Given the description of an element on the screen output the (x, y) to click on. 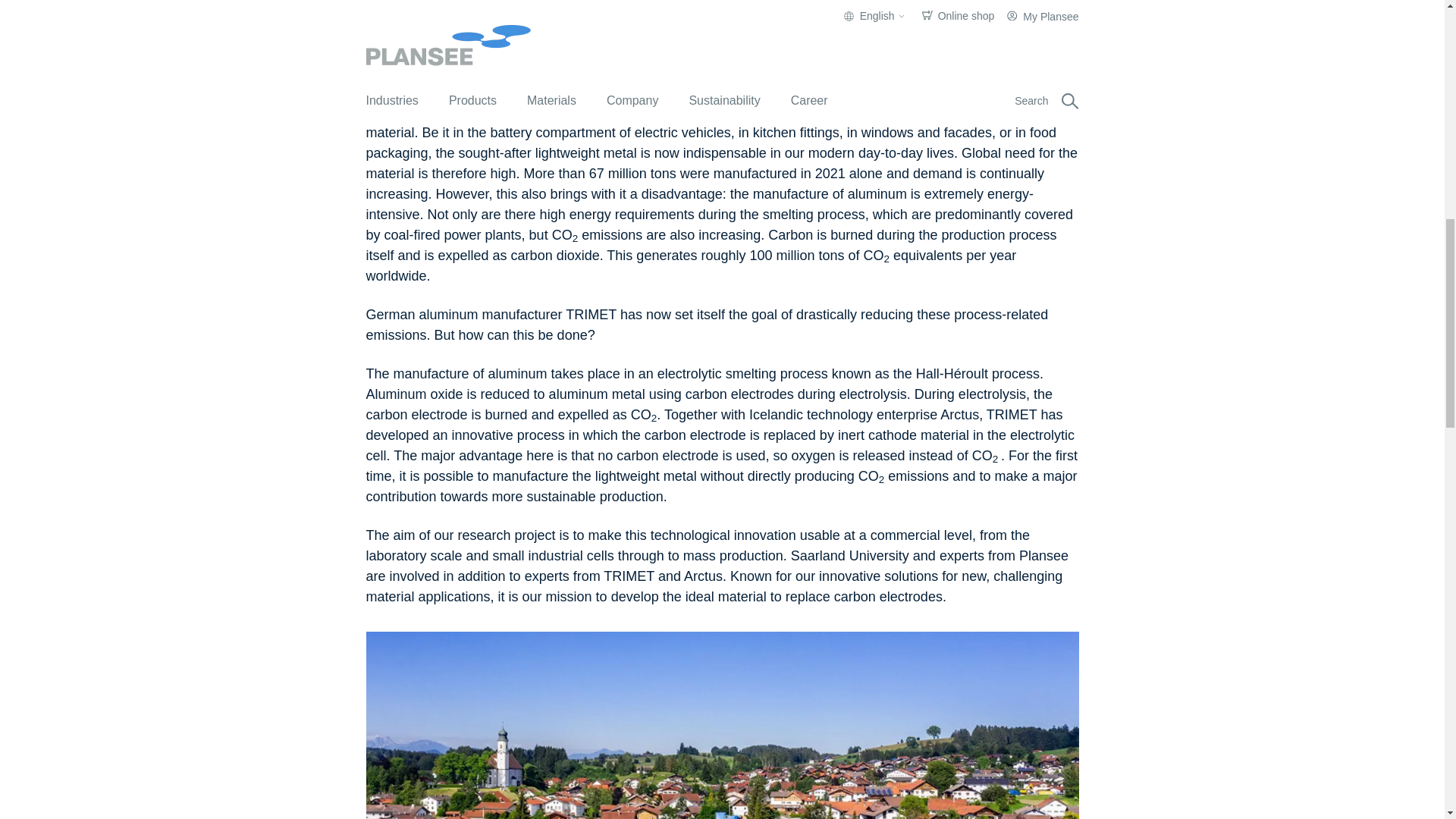
157373250 (721, 42)
